Given the description of an element on the screen output the (x, y) to click on. 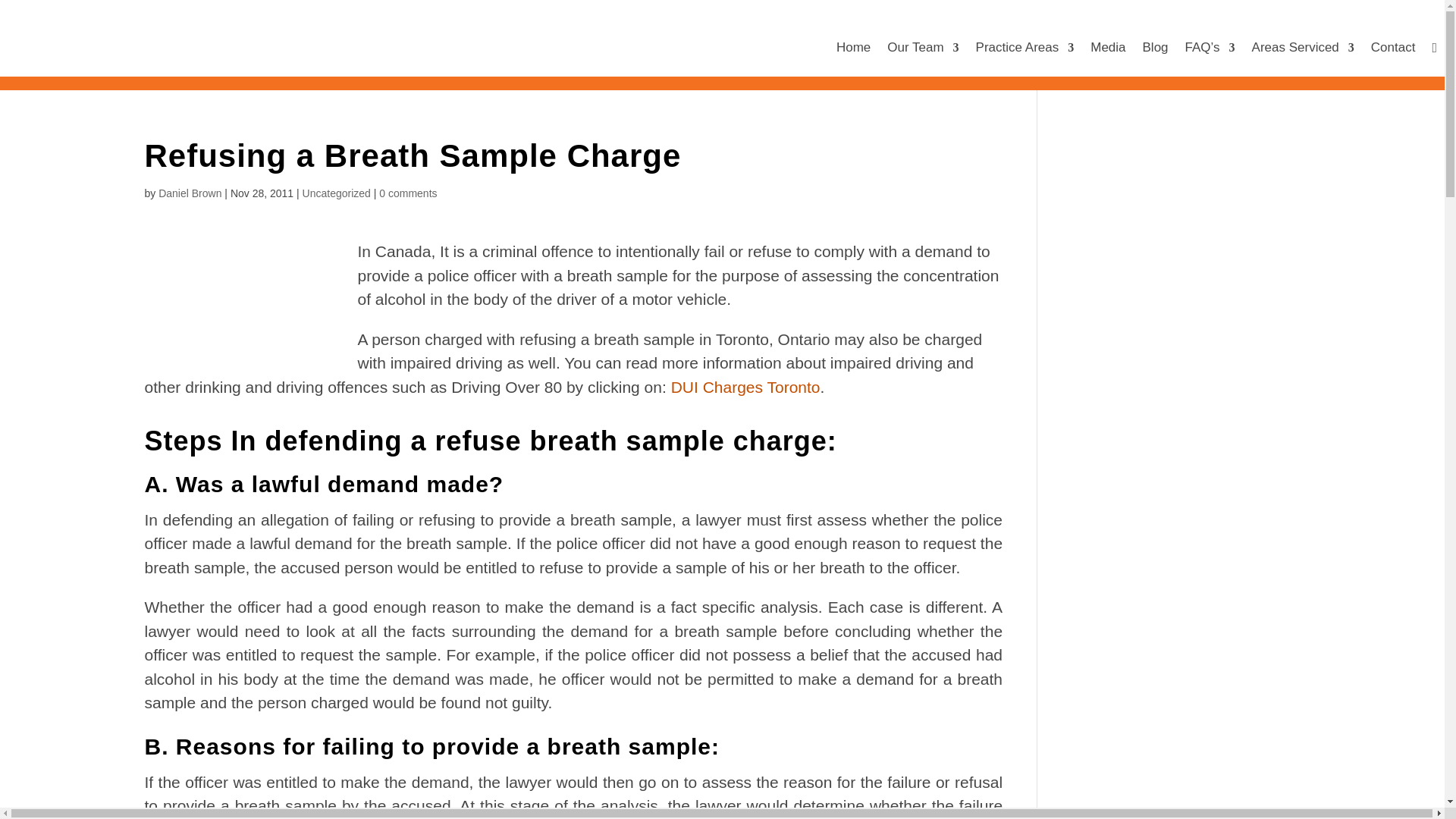
Our Team (922, 47)
Practice Areas (1024, 47)
Posts by Daniel Brown (189, 193)
DUI Lawyer Toronto (746, 386)
